Given the description of an element on the screen output the (x, y) to click on. 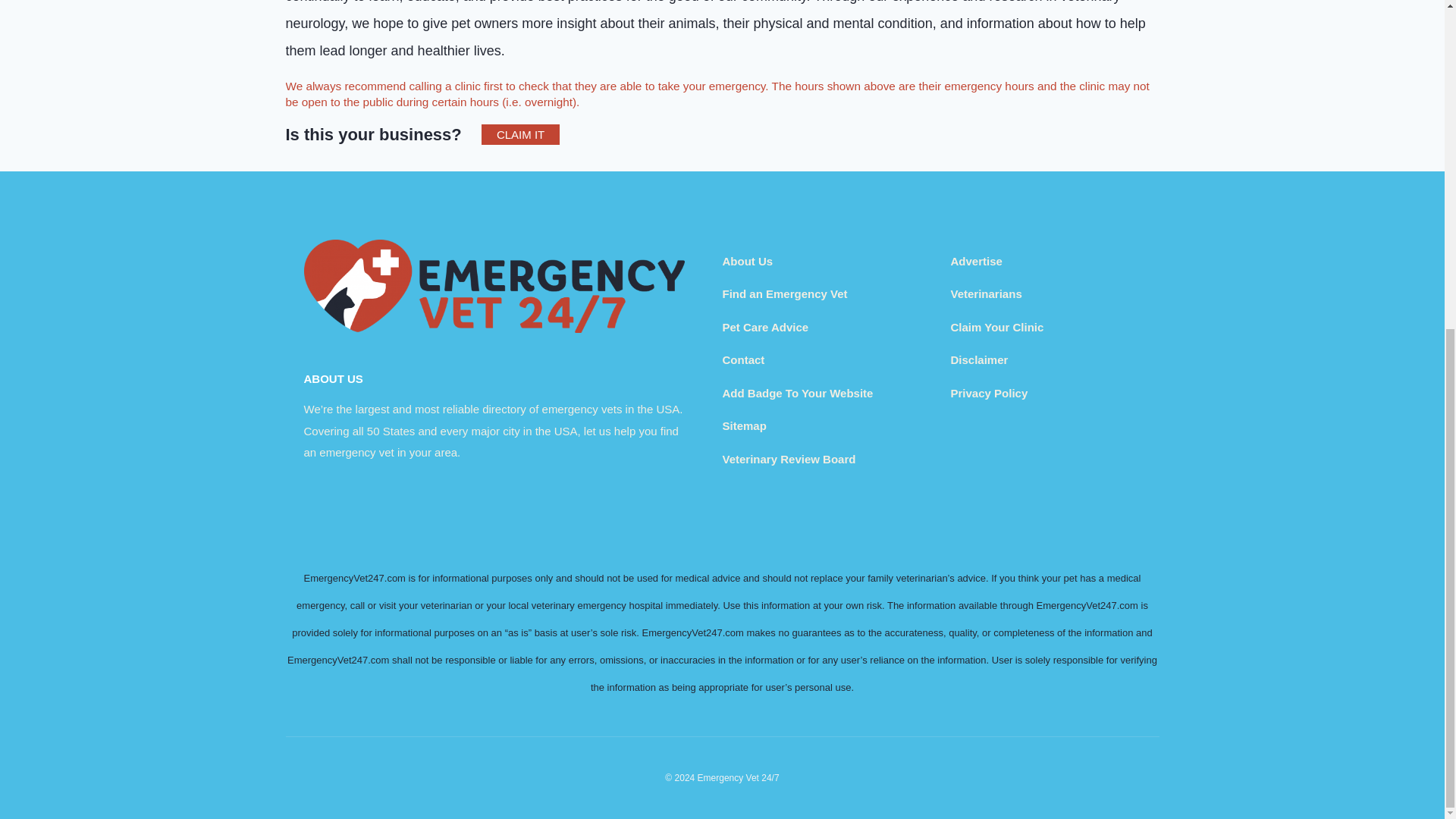
Veterinarians (986, 293)
Privacy Policy (988, 392)
Contact (743, 359)
CLAIM IT (520, 134)
Pet Care Advice (765, 327)
Add Badge To Your Website (797, 392)
About Us (747, 260)
Disclaimer (979, 359)
Claim Your Clinic (996, 327)
Veterinary Review Board (789, 459)
Sitemap (743, 425)
Find an Emergency Vet (784, 293)
Advertise (976, 260)
